Given the description of an element on the screen output the (x, y) to click on. 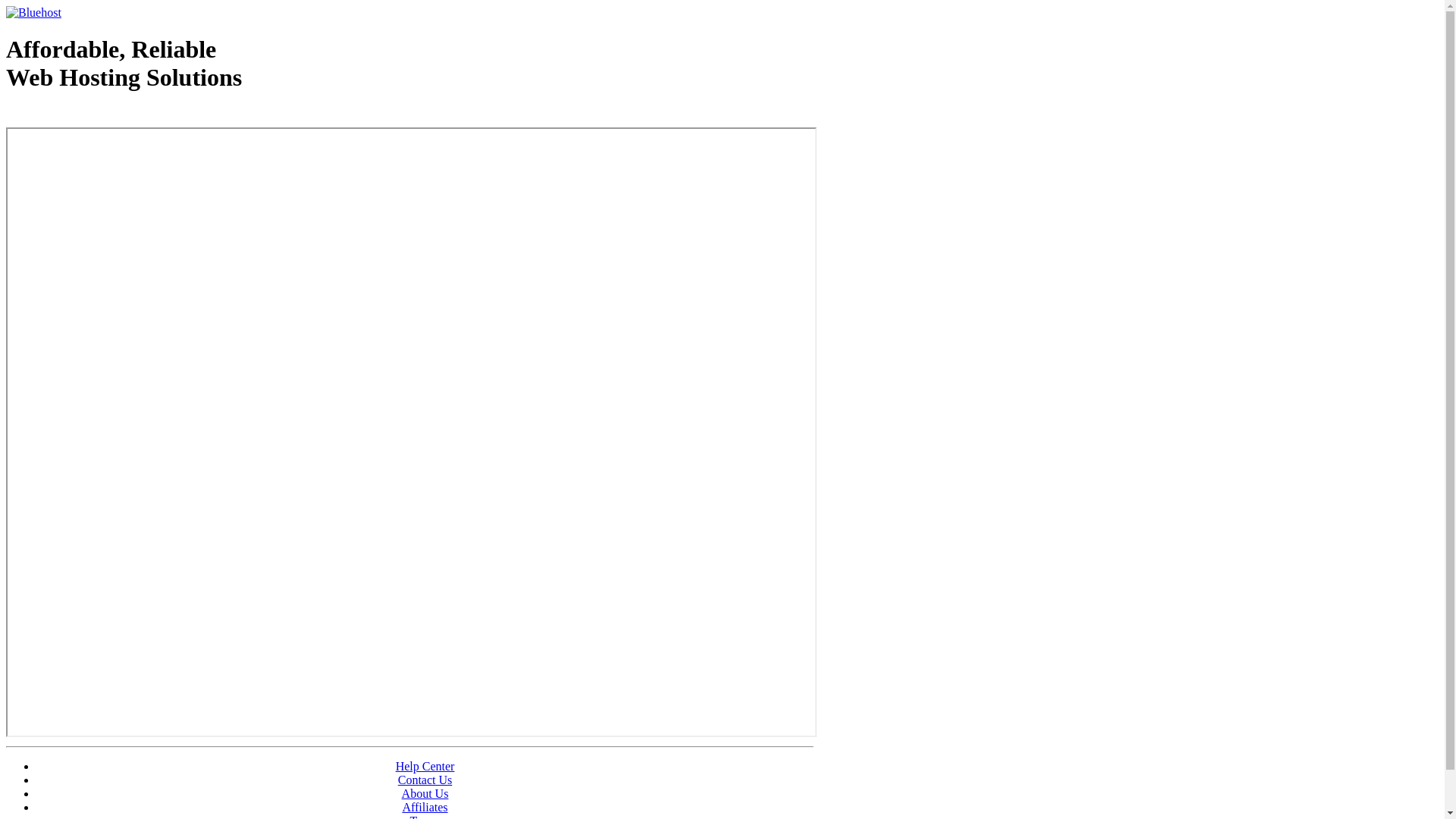
Web Hosting - courtesy of www.bluehost.com Element type: text (94, 115)
Contact Us Element type: text (425, 779)
Affiliates Element type: text (424, 806)
About Us Element type: text (424, 793)
Help Center Element type: text (425, 765)
